Given the description of an element on the screen output the (x, y) to click on. 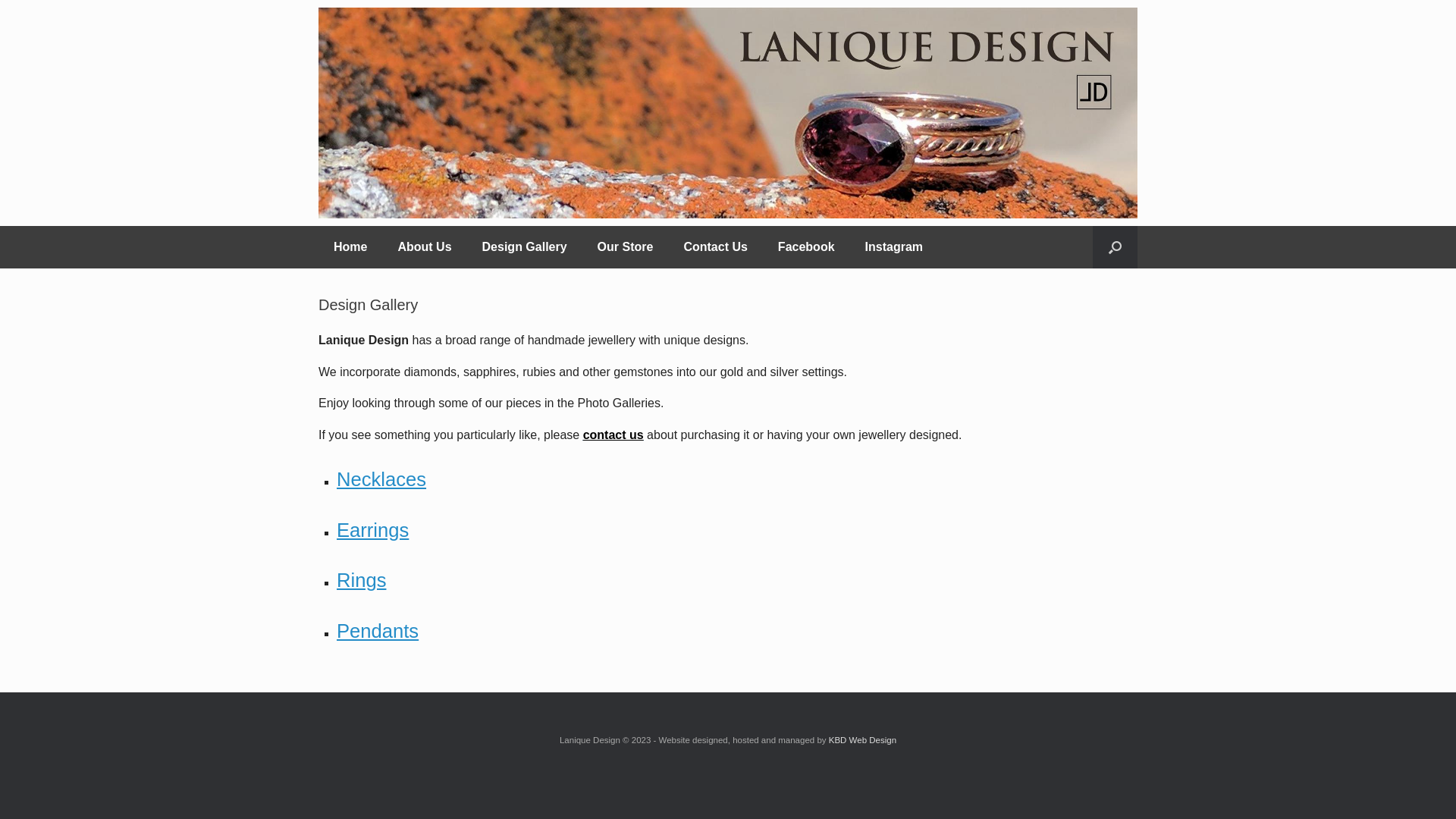
Contact Us Element type: text (715, 246)
About Us Element type: text (424, 246)
Lanique Design Element type: hover (727, 112)
Earrings Element type: text (372, 528)
Instagram Element type: text (894, 246)
KBD Web Design Element type: text (862, 739)
Our Store Element type: text (625, 246)
Rings Element type: text (360, 579)
Necklaces Element type: text (381, 478)
Home Element type: text (350, 246)
contact us Element type: text (613, 434)
Design Gallery Element type: text (524, 246)
Pendants Element type: text (377, 630)
Facebook Element type: text (806, 246)
